Given the description of an element on the screen output the (x, y) to click on. 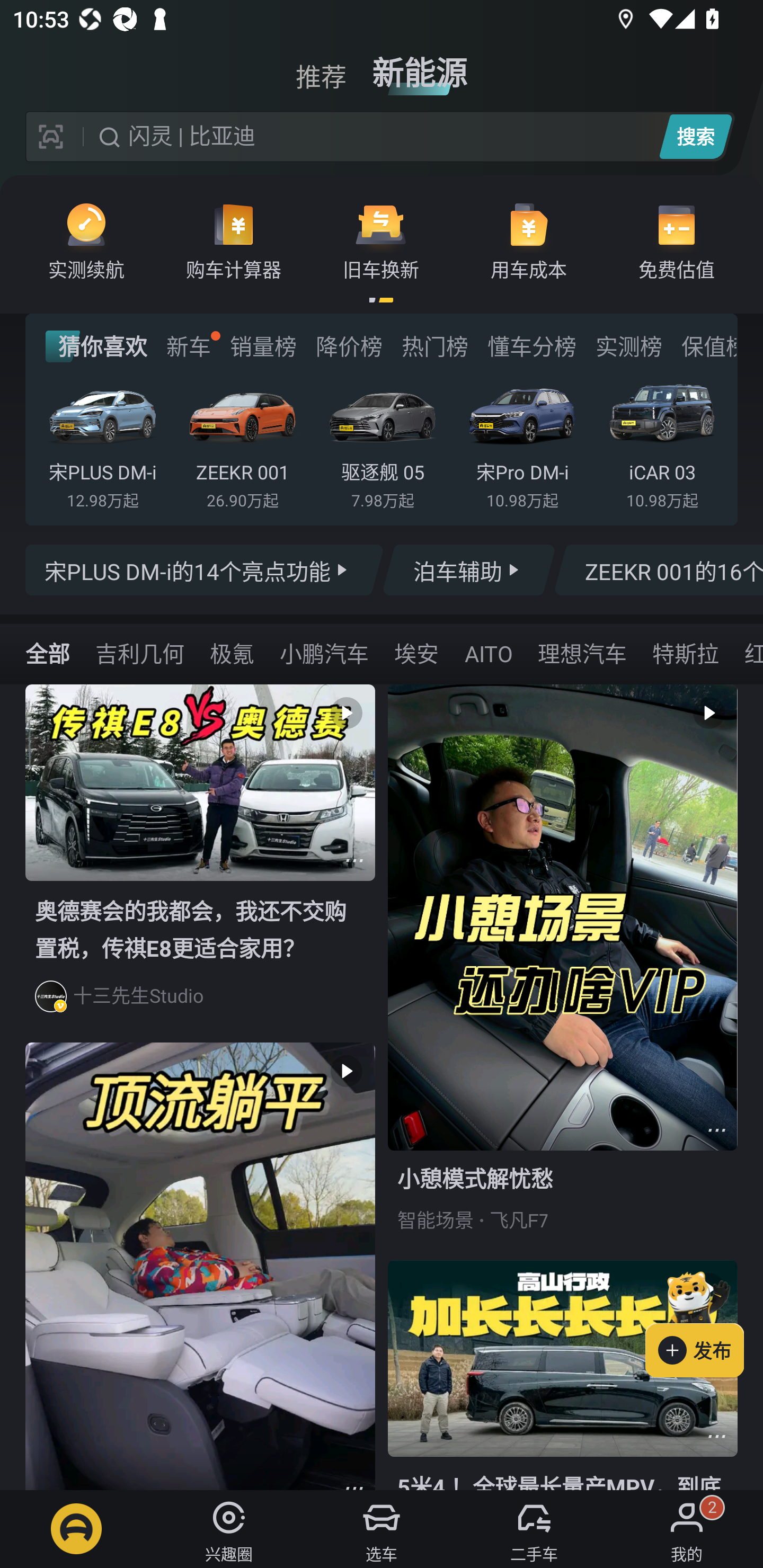
推荐 (321, 65)
新能源 (419, 65)
搜索 (695, 136)
实测续航 (86, 240)
购车计算器 (233, 240)
旧车换新 (380, 240)
用车成本 (528, 240)
免费估值 (676, 240)
猜你喜欢 (96, 346)
新车 (188, 346)
销量榜 (262, 346)
降价榜 (348, 346)
热门榜 (434, 346)
懂车分榜 (531, 346)
实测榜 (628, 346)
保值榜 (708, 346)
宋PLUS DM-i 12.98万起 (102, 442)
ZEEKR 001 26.90万起 (242, 442)
驱逐舰 05 7.98万起 (382, 442)
宋Pro DM-i 10.98万起 (522, 442)
iCAR 03 10.98万起 (662, 442)
宋PLUS DM-i的14个亮点功能 (204, 569)
泊车辅助 (468, 569)
ZEEKR 001的16个亮点功能 (658, 569)
全部 (47, 652)
吉利几何 (139, 652)
极氪 (231, 652)
小鹏汽车 (324, 652)
埃安 (416, 652)
AITO (487, 652)
理想汽车 (581, 652)
特斯拉 (685, 652)
  奥德赛会的我都会，我还不交购置税，传祺E8更适合家用？ 十三先生Studio (200, 862)
  小憩模式解忧愁 智能场景 飞凡F7 (562, 971)
 (354, 860)
  (200, 1265)
 (716, 1130)
飞凡F7 (518, 1220)
  5米4 ！全球最长量产MPV，到底好不好开？ (562, 1374)
发布 (704, 1320)
 (716, 1436)
 兴趣圈 (228, 1528)
 选车 (381, 1528)
 二手车 (533, 1528)
 我的 (686, 1528)
